Given the description of an element on the screen output the (x, y) to click on. 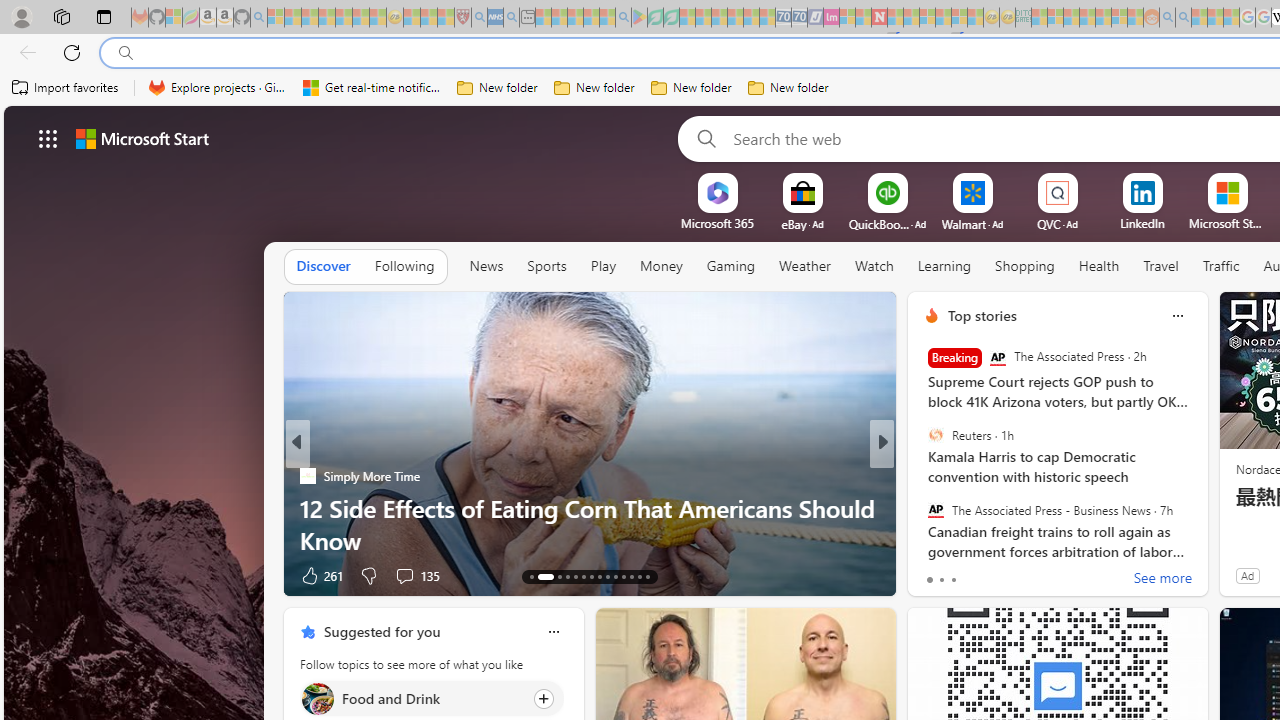
View comments 6 Comment (1014, 575)
View comments 84 Comment (1019, 575)
Click to follow topic Food and Drink (431, 698)
AutomationID: tab-22 (614, 576)
AutomationID: tab-21 (606, 576)
